Given the description of an element on the screen output the (x, y) to click on. 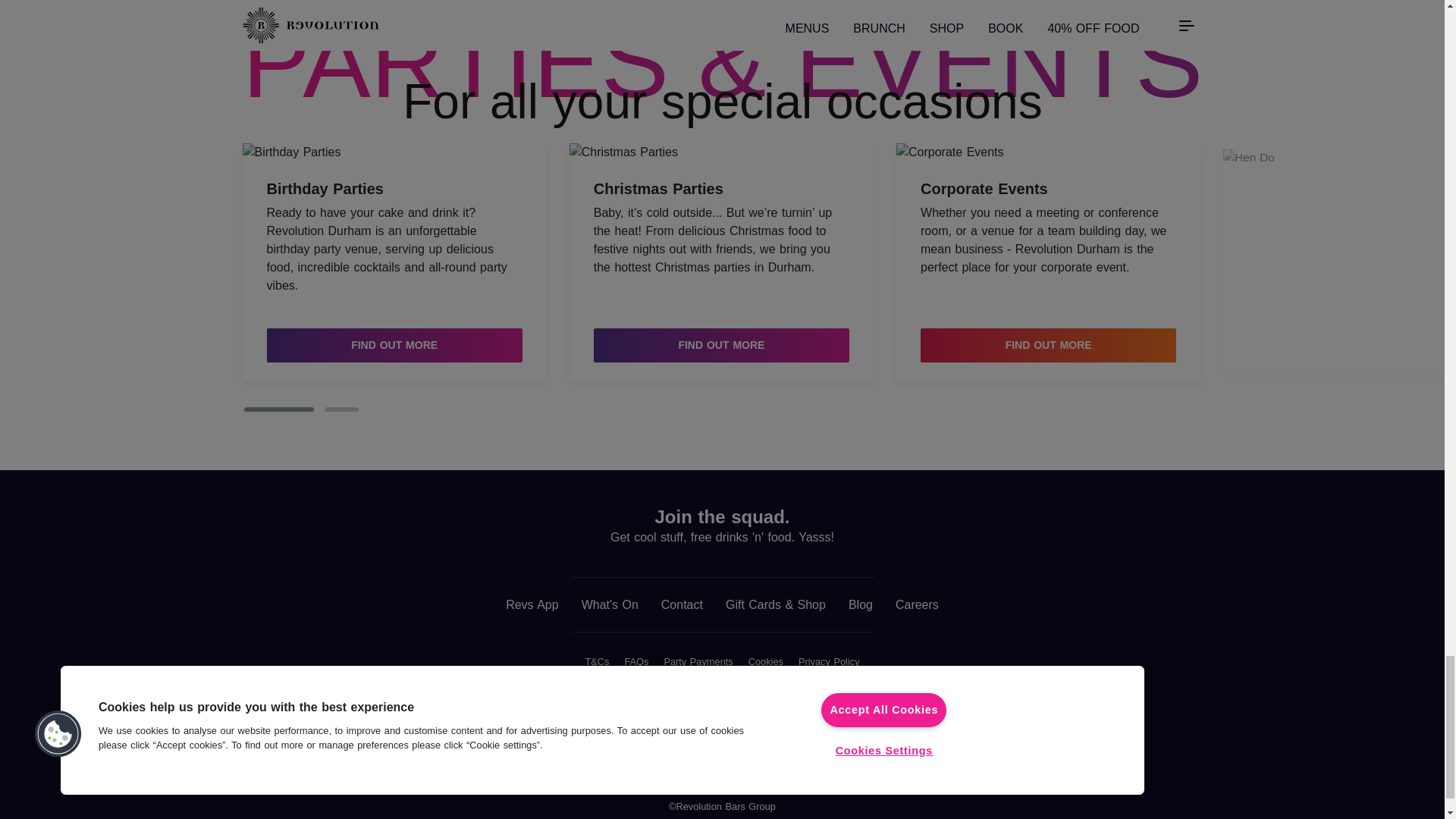
Find out more (721, 345)
Find out more (394, 345)
